Given the description of an element on the screen output the (x, y) to click on. 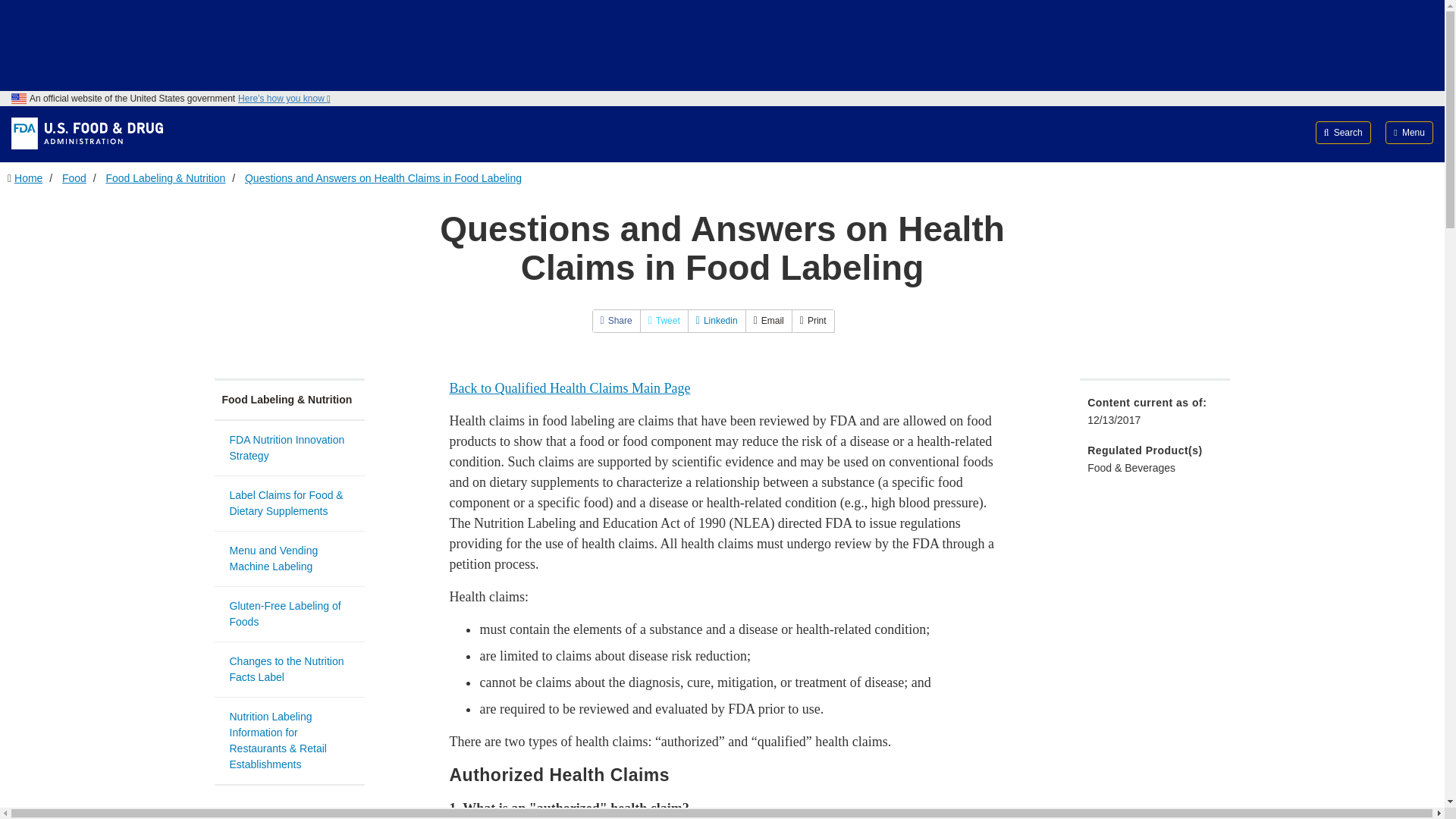
  Search (1343, 132)
Print this page (813, 320)
  Menu (1409, 132)
